Given the description of an element on the screen output the (x, y) to click on. 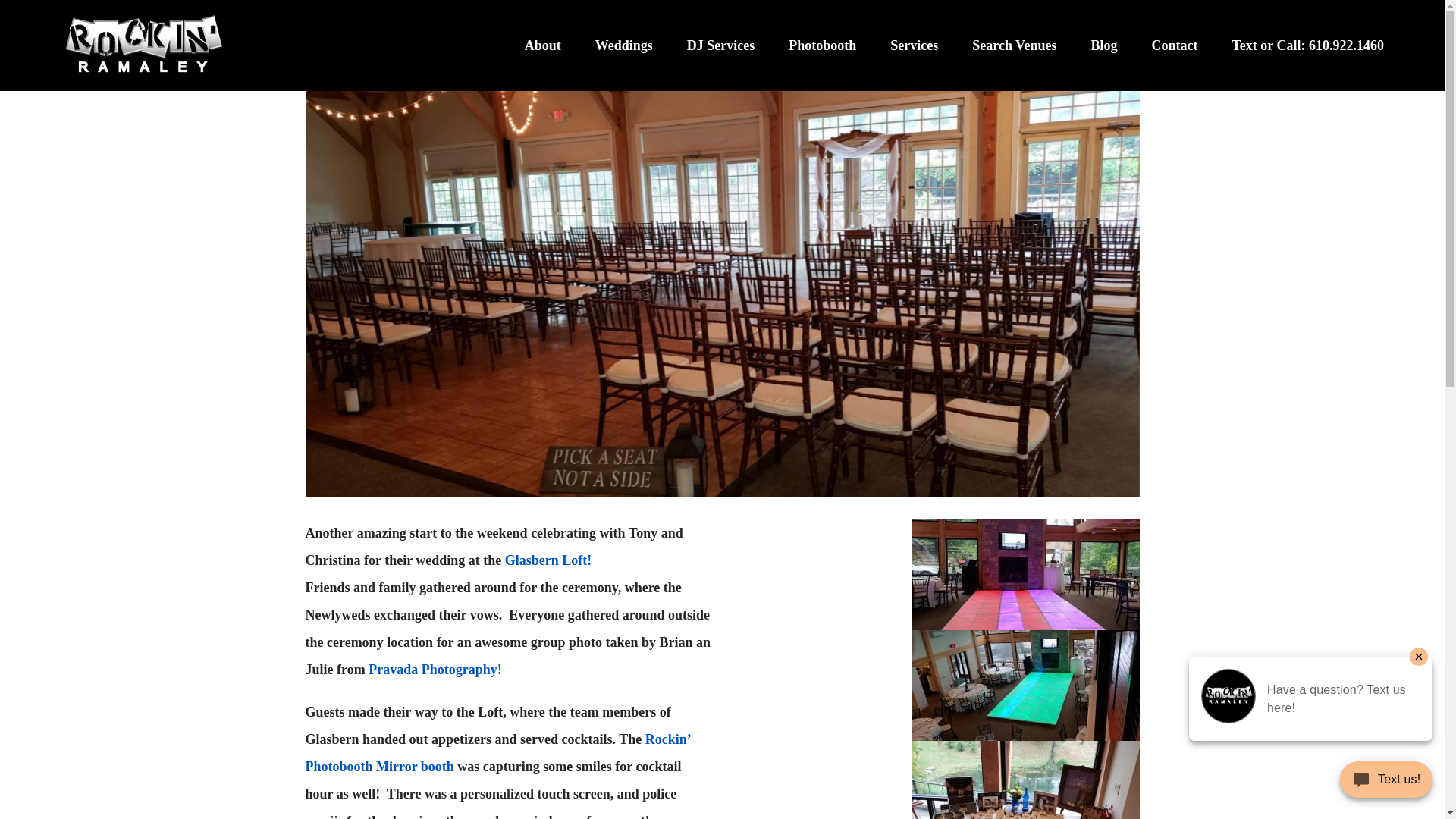
Contact (1173, 45)
Weddings (623, 45)
Services (913, 45)
About (542, 45)
Text or Call: 610.922.1460 (1307, 45)
DJ Services (720, 45)
Blog (1103, 45)
Search Venues (1014, 45)
Photobooth (822, 45)
